Given the description of an element on the screen output the (x, y) to click on. 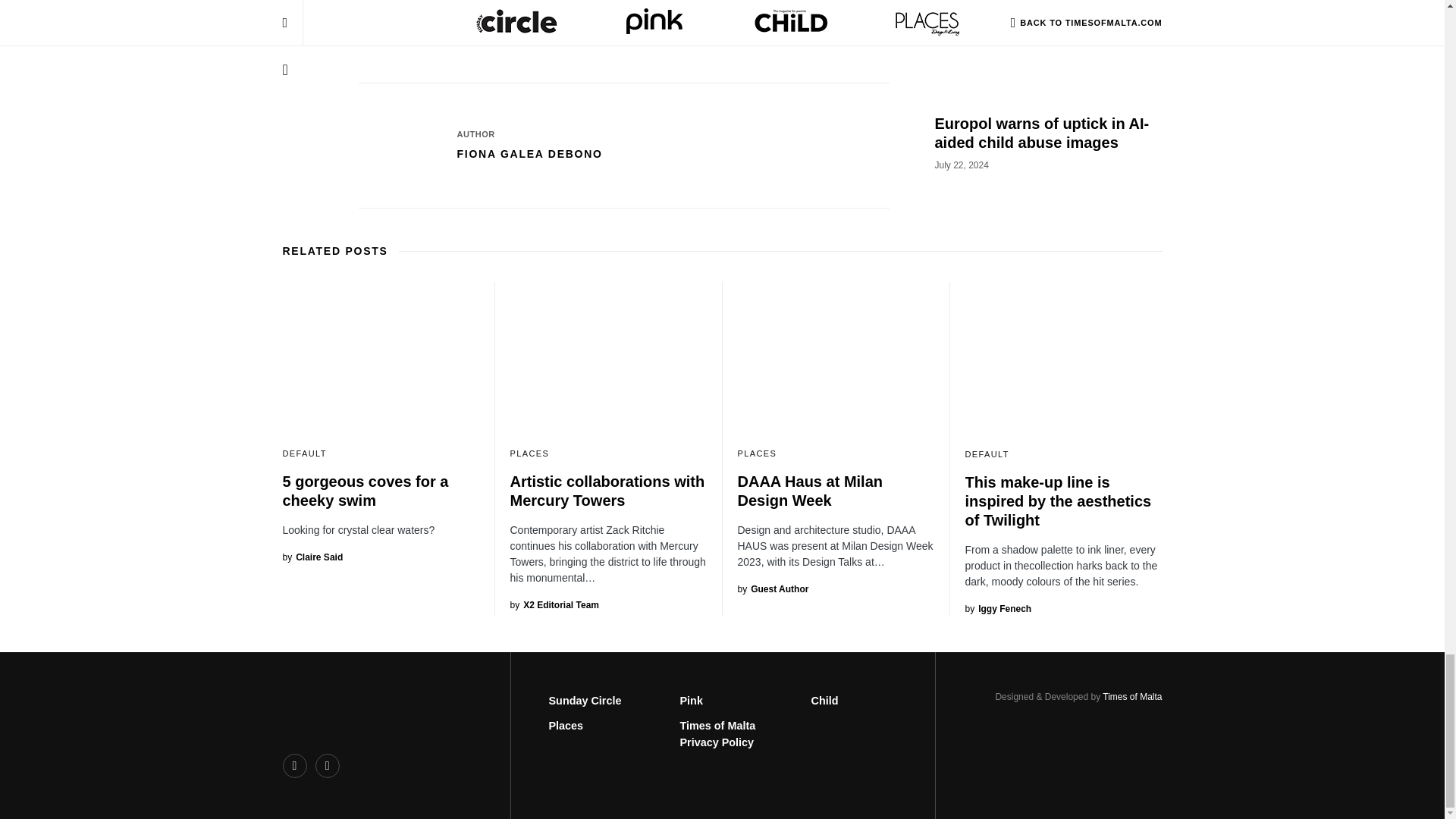
View all posts by X2 Editorial Team (553, 604)
View all posts by Guest Author (772, 589)
View all posts by Claire Said (312, 557)
View all posts by Iggy Fenech (996, 608)
